Given the description of an element on the screen output the (x, y) to click on. 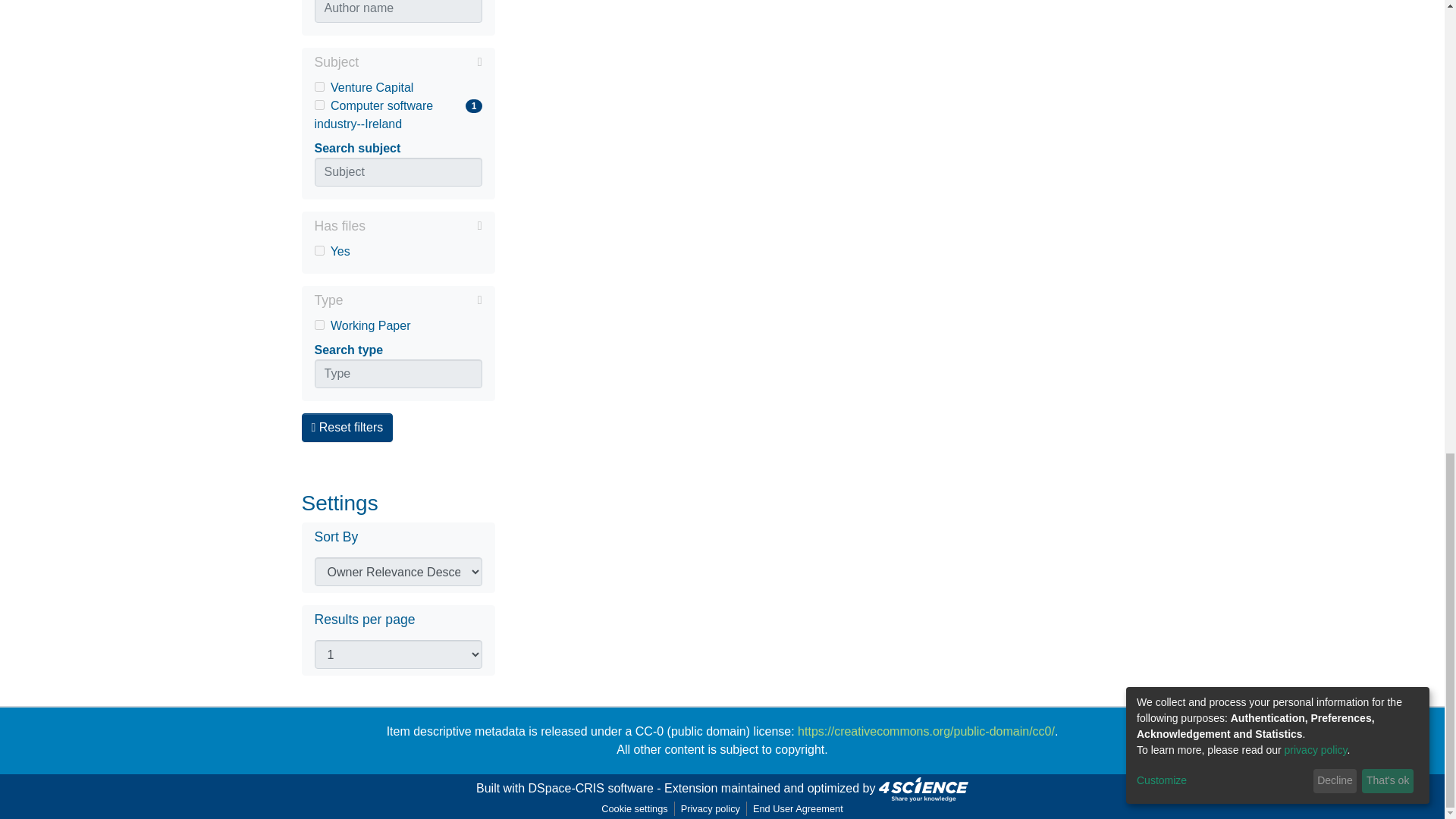
Collapse filter (397, 115)
Collapse filter (412, 300)
on (419, 62)
Venture Capital (318, 250)
on (397, 87)
Yes (318, 104)
on (397, 251)
Type (318, 86)
Has files (397, 301)
Subject (397, 227)
on (397, 63)
Collapse filter (318, 325)
